Given the description of an element on the screen output the (x, y) to click on. 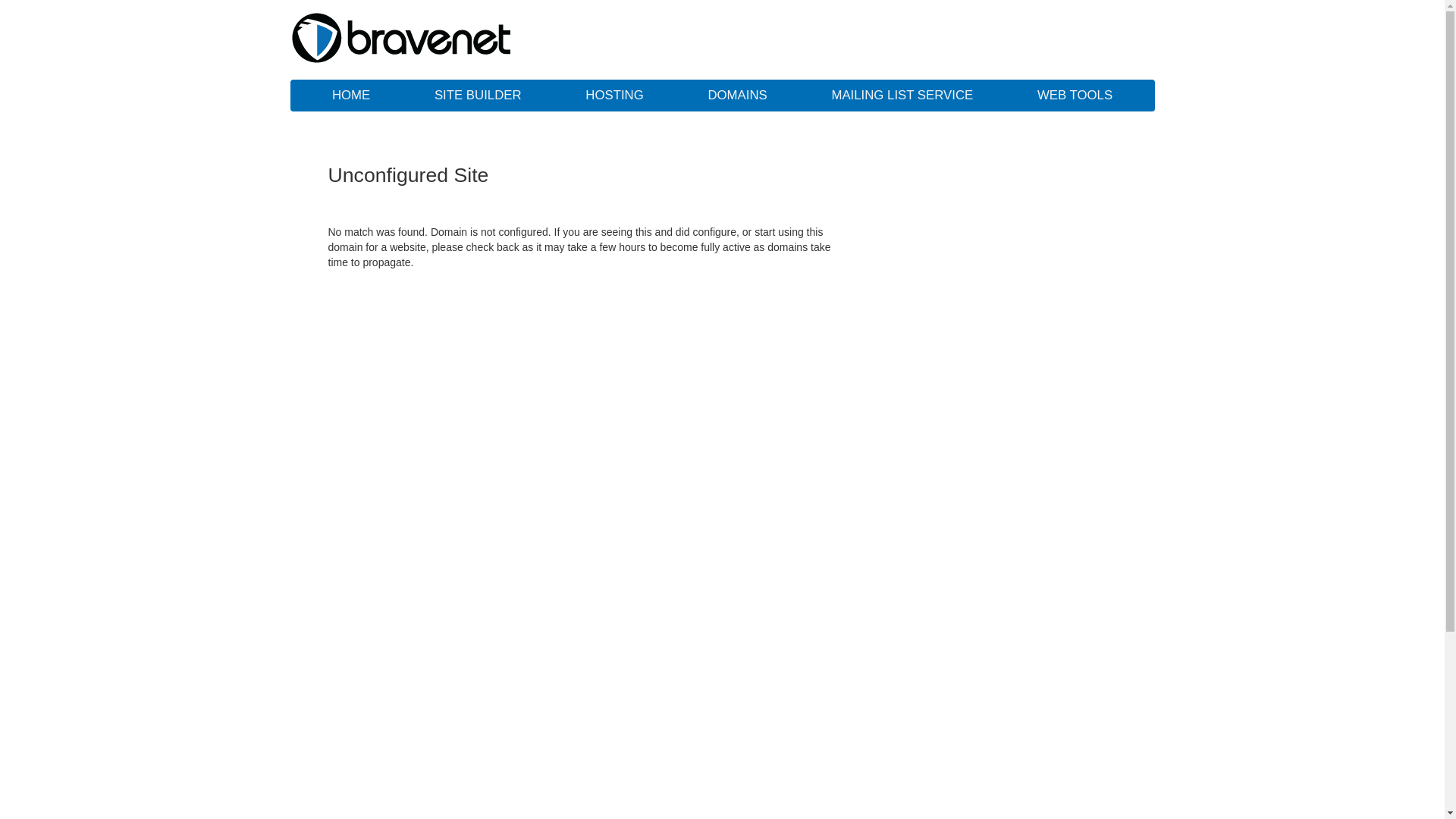
HOME Element type: text (350, 95)
SITE BUILDER Element type: text (478, 95)
DOMAINS Element type: text (737, 95)
HOSTING Element type: text (614, 95)
WEB TOOLS Element type: text (1074, 95)
MAILING LIST SERVICE Element type: text (901, 95)
